Given the description of an element on the screen output the (x, y) to click on. 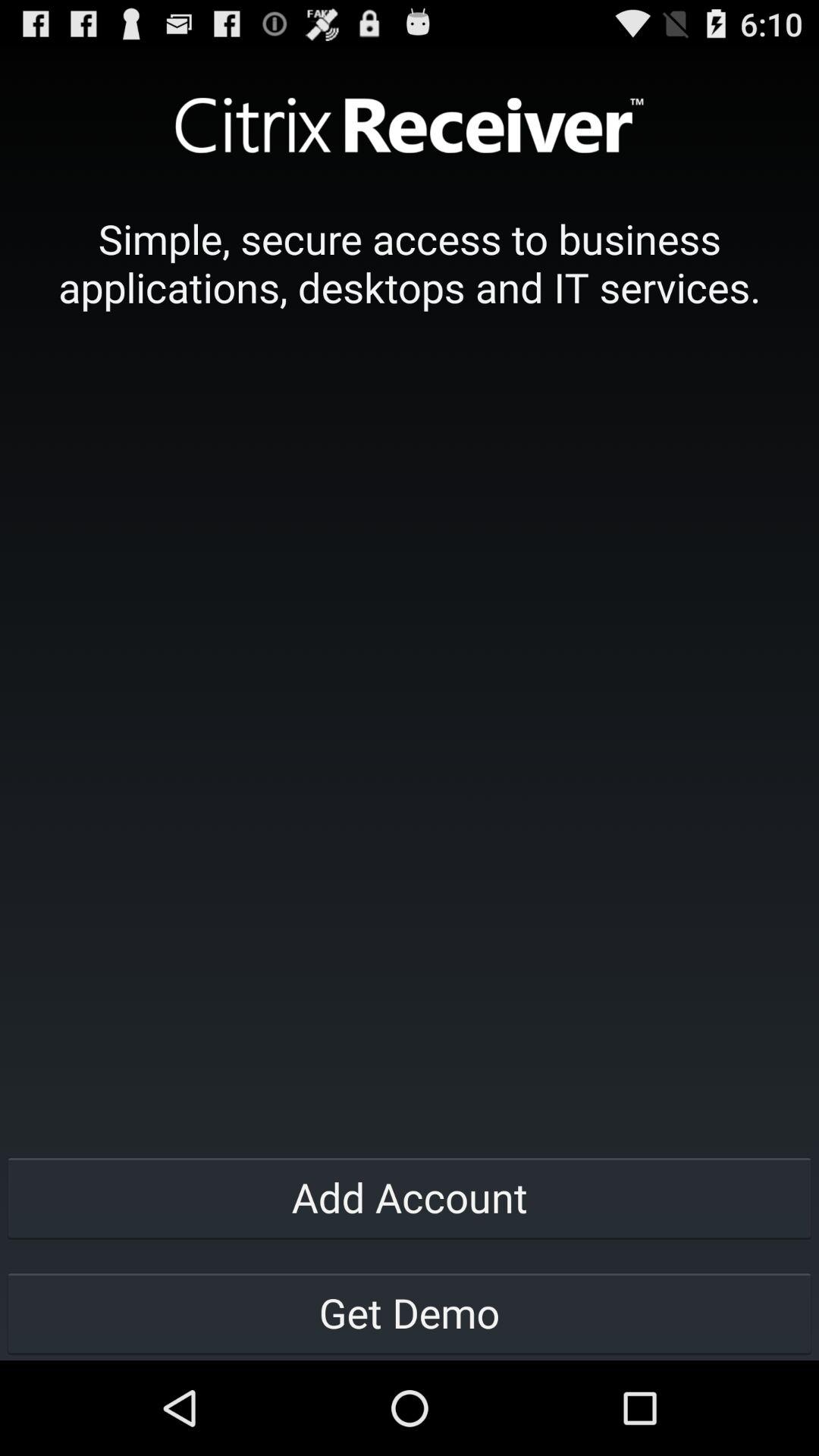
tap the add account icon (409, 1196)
